Given the description of an element on the screen output the (x, y) to click on. 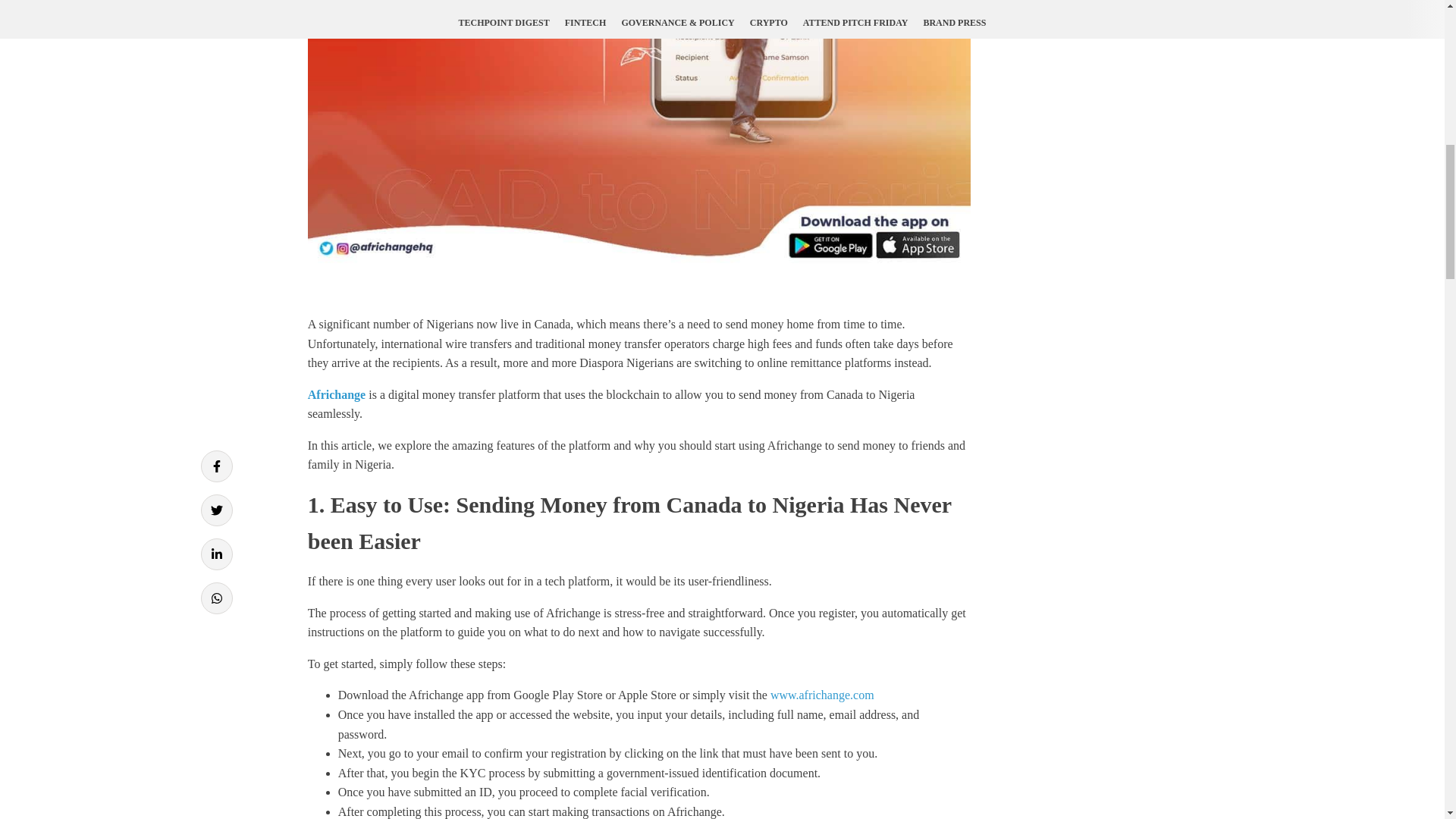
www.africhange.com (822, 694)
Africhange (336, 394)
